Given the description of an element on the screen output the (x, y) to click on. 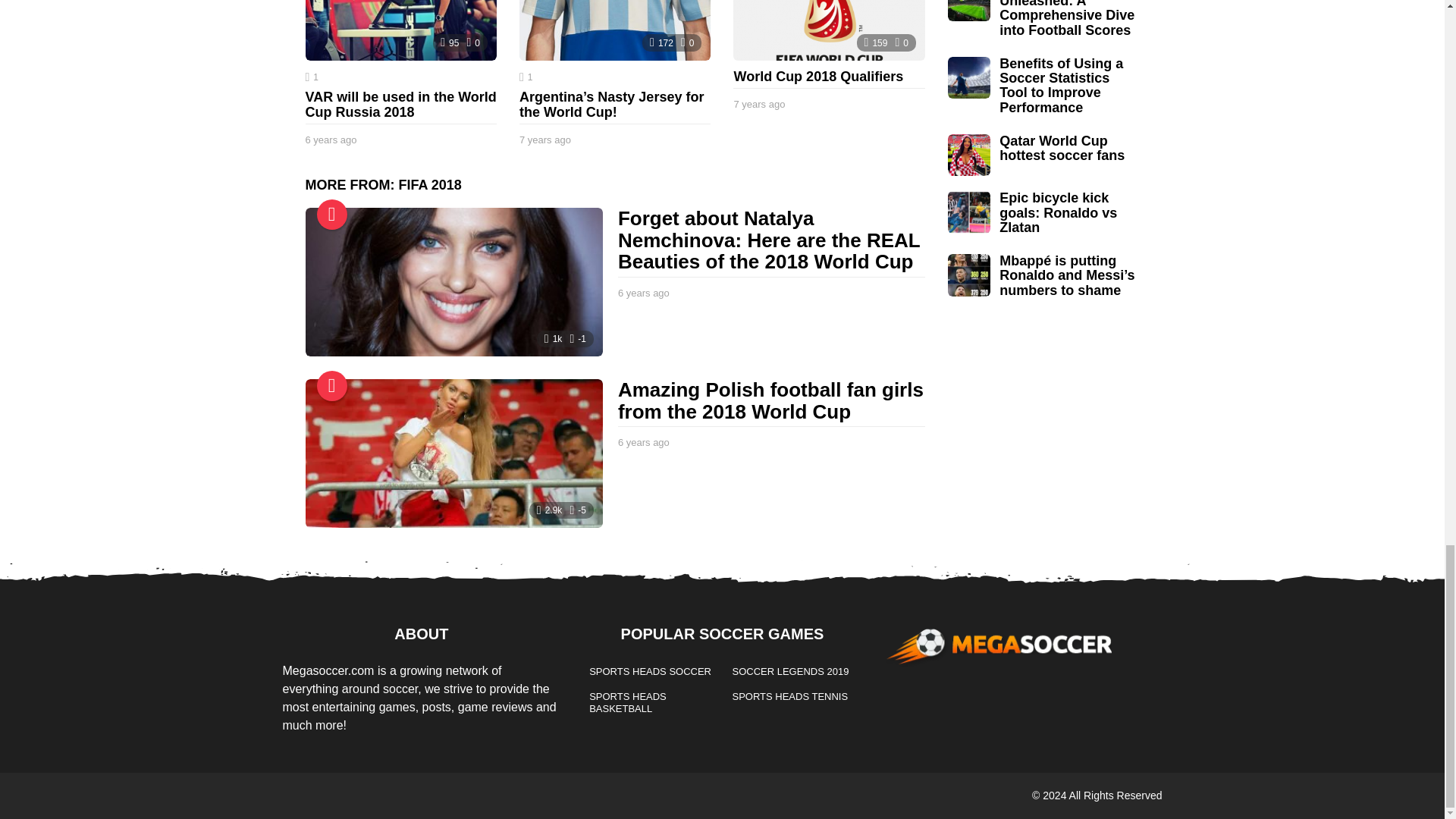
World Cup 2018 Qualifiers (828, 29)
VAR will be used in the World Cup Russia 2018 (400, 29)
1 (311, 77)
1 (525, 77)
Amazing Polish football fan girls from the 2018 World Cup (453, 453)
Popular (332, 214)
Hot (332, 386)
VAR will be used in the World Cup Russia 2018 (400, 104)
